Given the description of an element on the screen output the (x, y) to click on. 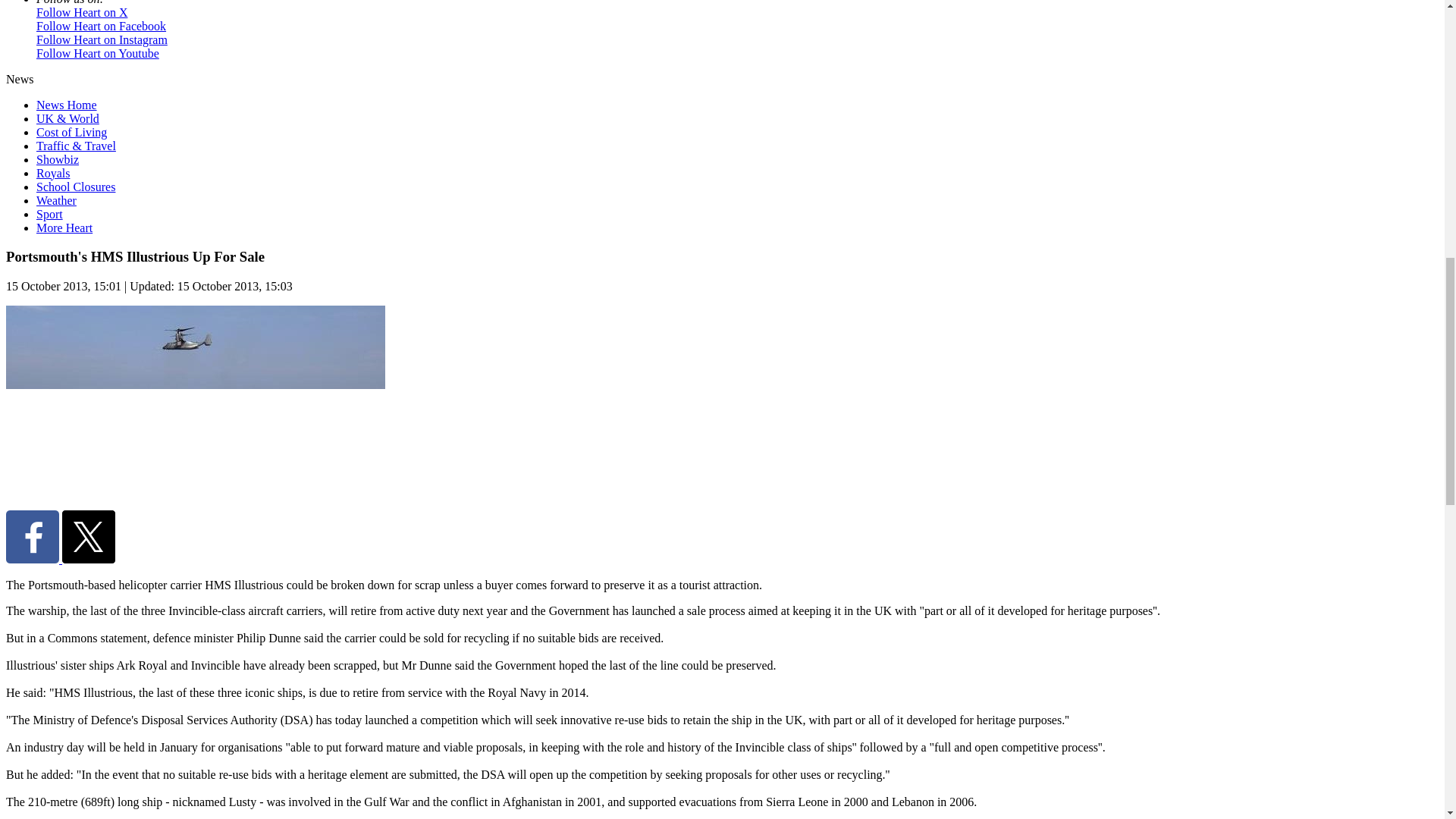
Follow Heart on X (82, 11)
Follow Heart on Youtube (97, 52)
School Closures (75, 186)
Follow Heart on Instagram (101, 39)
Follow Heart on Facebook (100, 25)
Follow Heart on X (82, 11)
News Home (66, 104)
Follow Heart on Youtube (97, 52)
Cost of Living (71, 132)
Follow Heart on Facebook (100, 25)
Royals (52, 173)
Weather (56, 200)
Follow Heart on Instagram (101, 39)
Showbiz (57, 159)
